Given the description of an element on the screen output the (x, y) to click on. 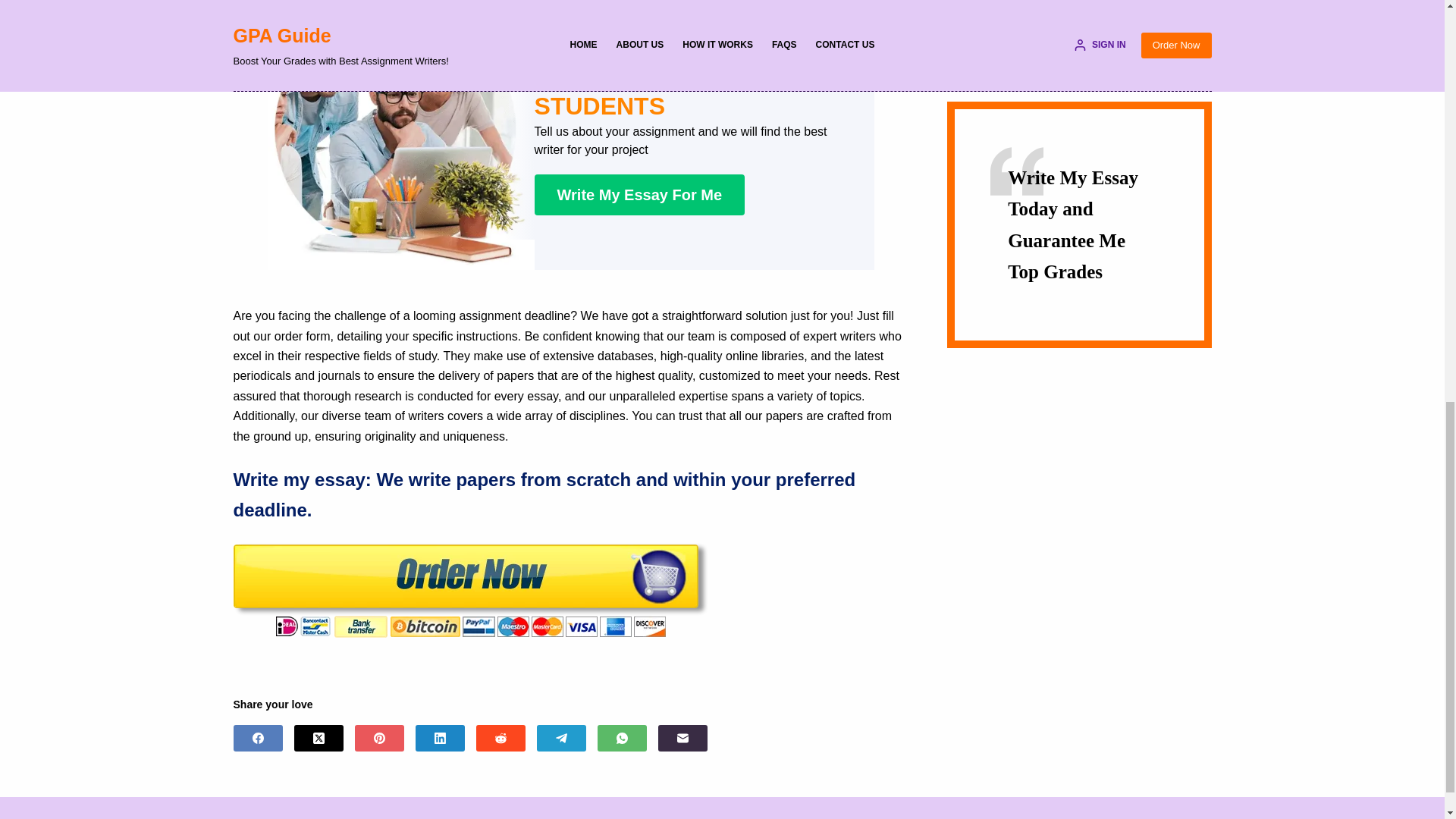
Write My Essay For Me (639, 194)
